Given the description of an element on the screen output the (x, y) to click on. 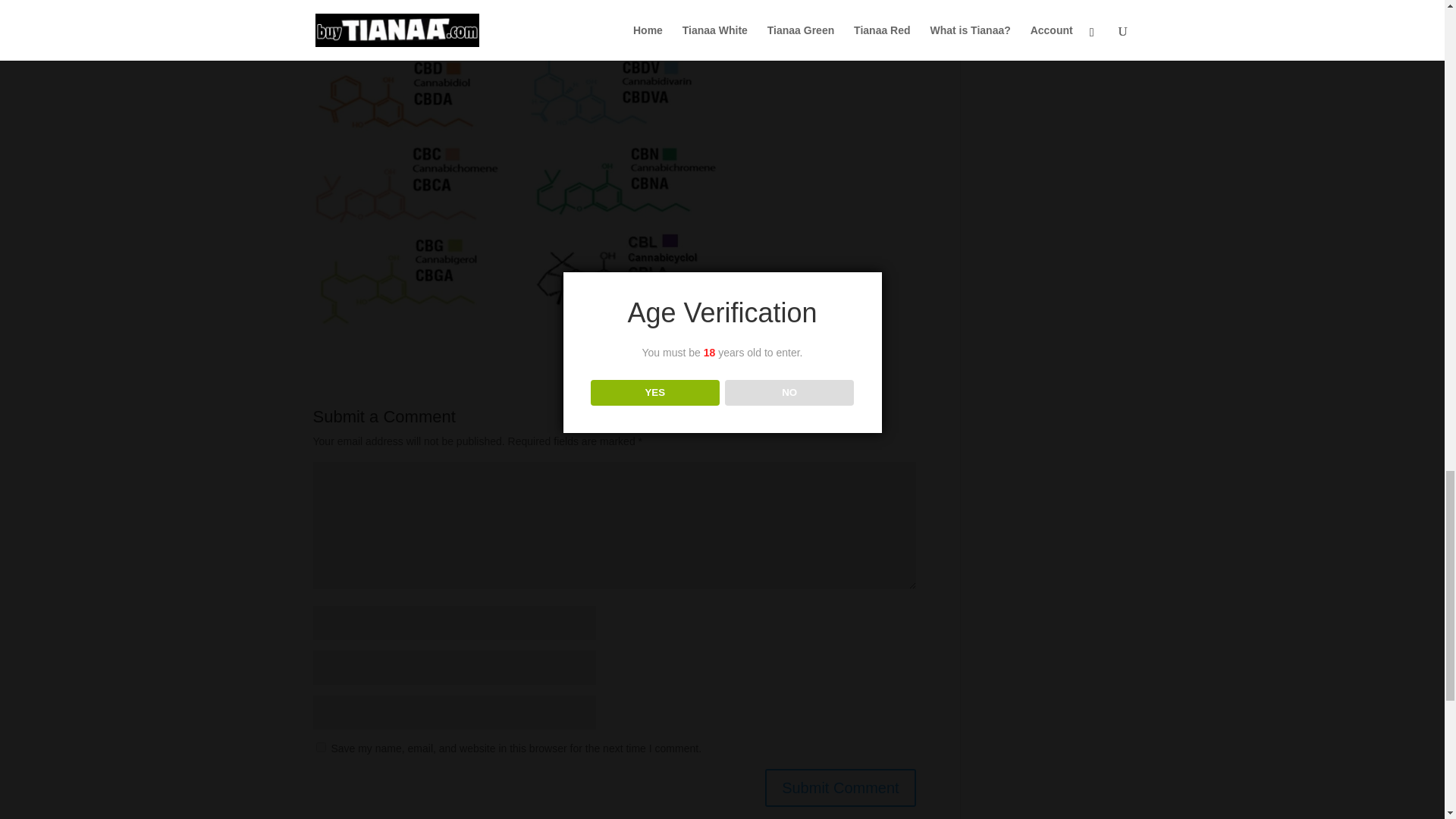
Submit Comment (840, 787)
Submit Comment (840, 787)
yes (319, 747)
